Given the description of an element on the screen output the (x, y) to click on. 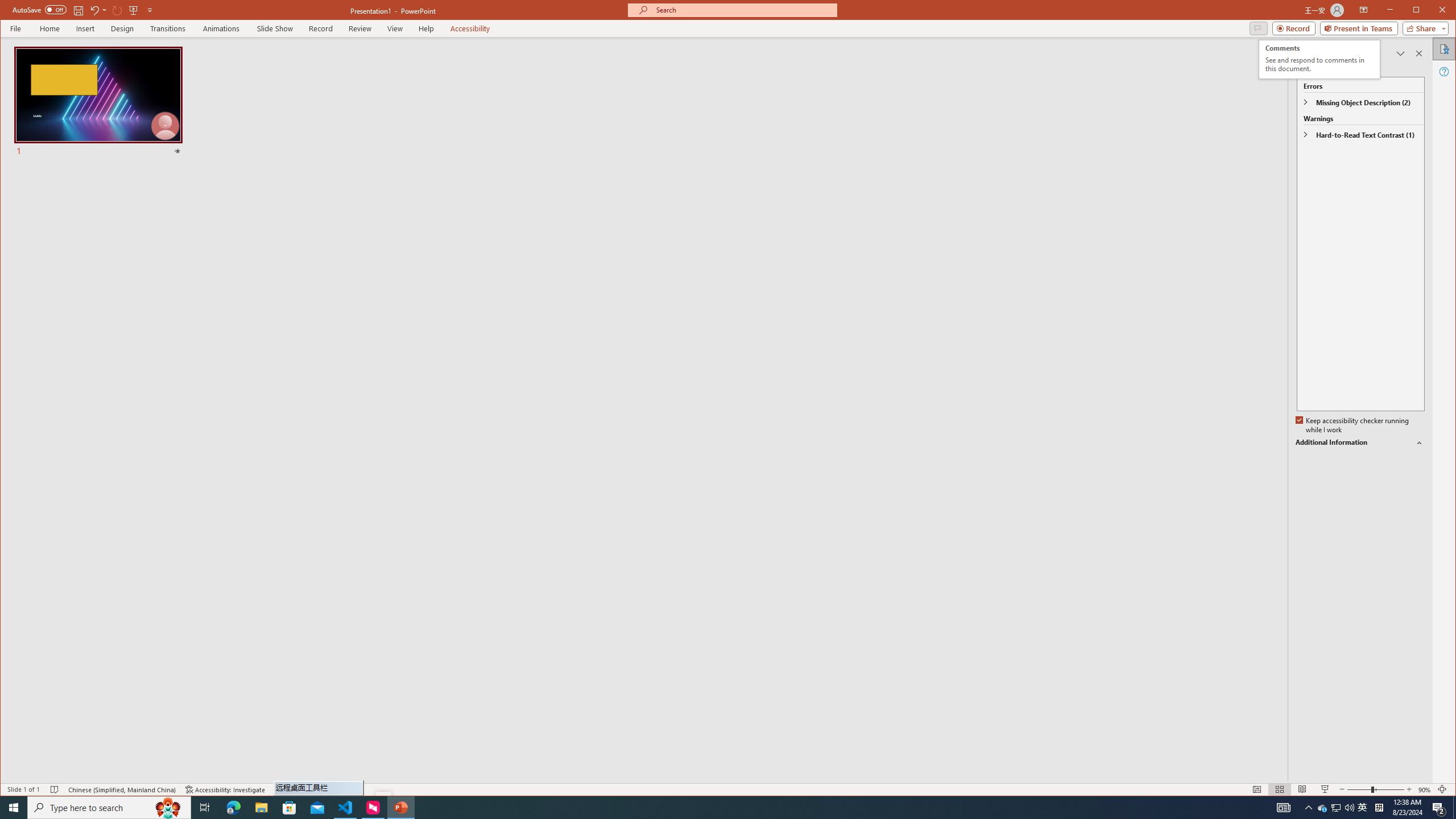
Microsoft Store (289, 807)
Task View (204, 807)
Tray Input Indicator - Chinese (Simplified, China) (1378, 807)
Maximize (1432, 11)
